Given the description of an element on the screen output the (x, y) to click on. 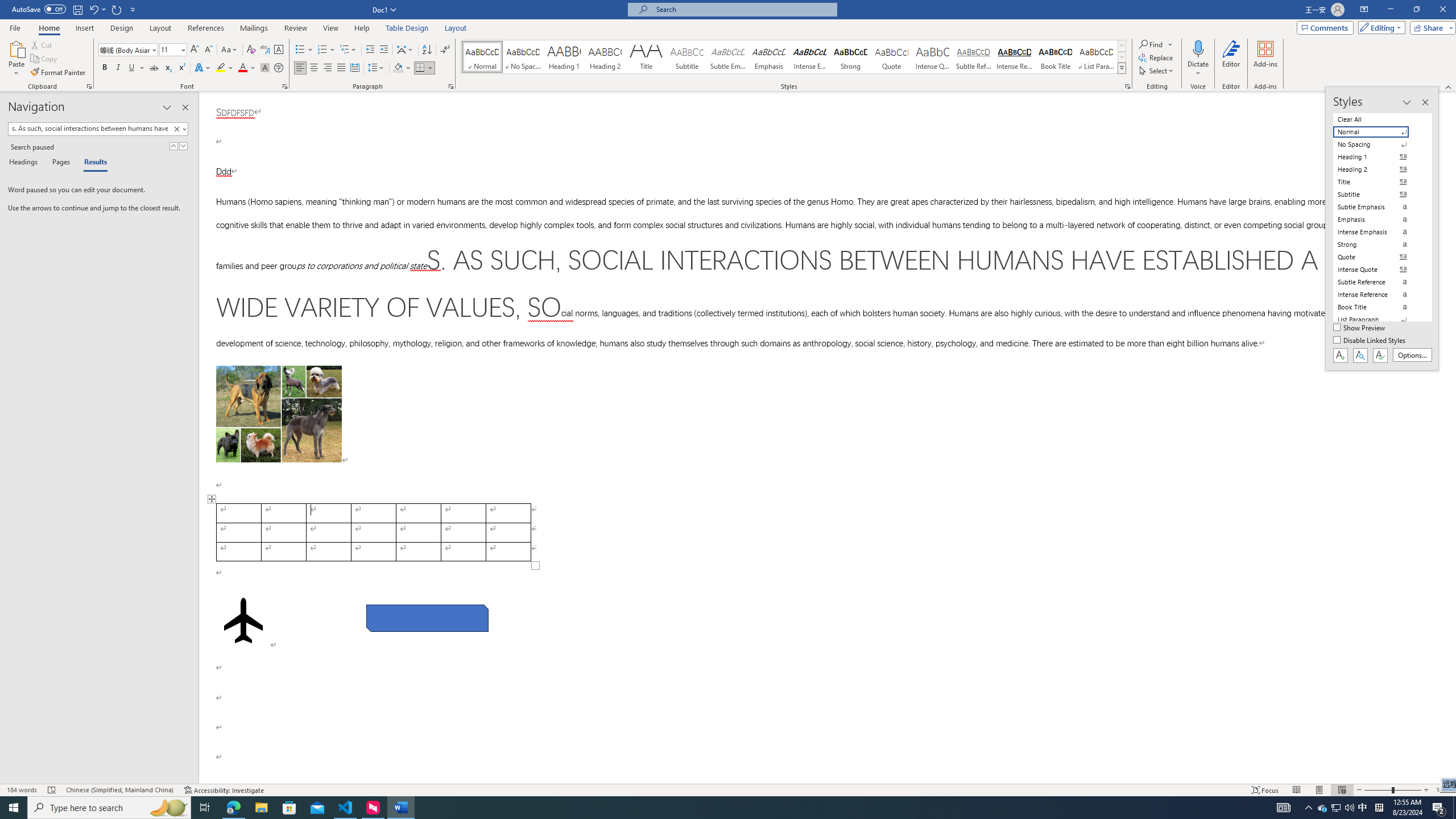
Intense Reference (1014, 56)
Justify (340, 67)
Multilevel List (347, 49)
Row up (1121, 45)
Strikethrough (154, 67)
Emphasis (768, 56)
Bold (104, 67)
Show Preview (1360, 328)
